Given the description of an element on the screen output the (x, y) to click on. 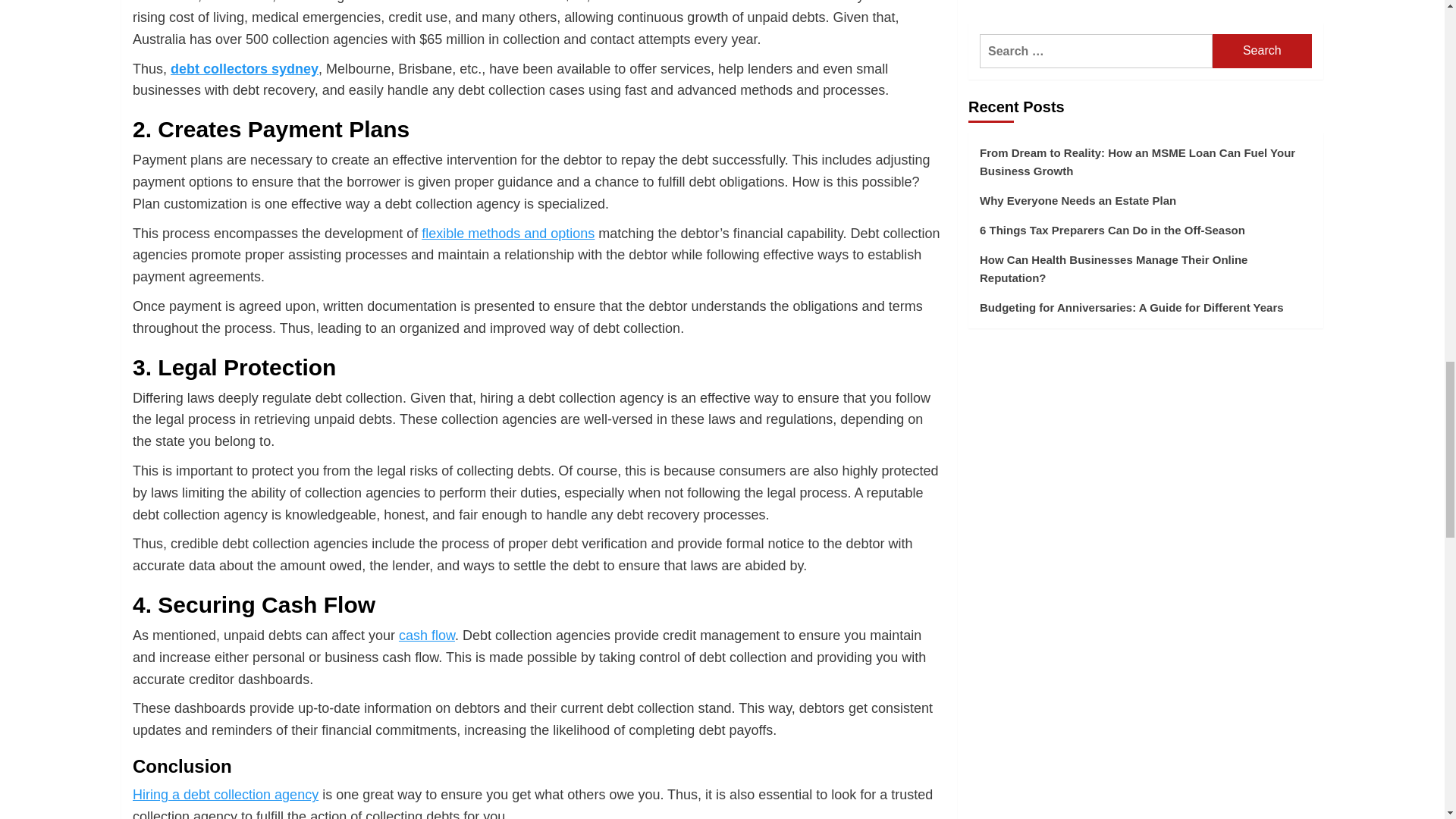
flexible methods and options (508, 233)
Hiring a debt collection agency (225, 794)
debt collectors sydney (244, 68)
cash flow (426, 635)
